Given the description of an element on the screen output the (x, y) to click on. 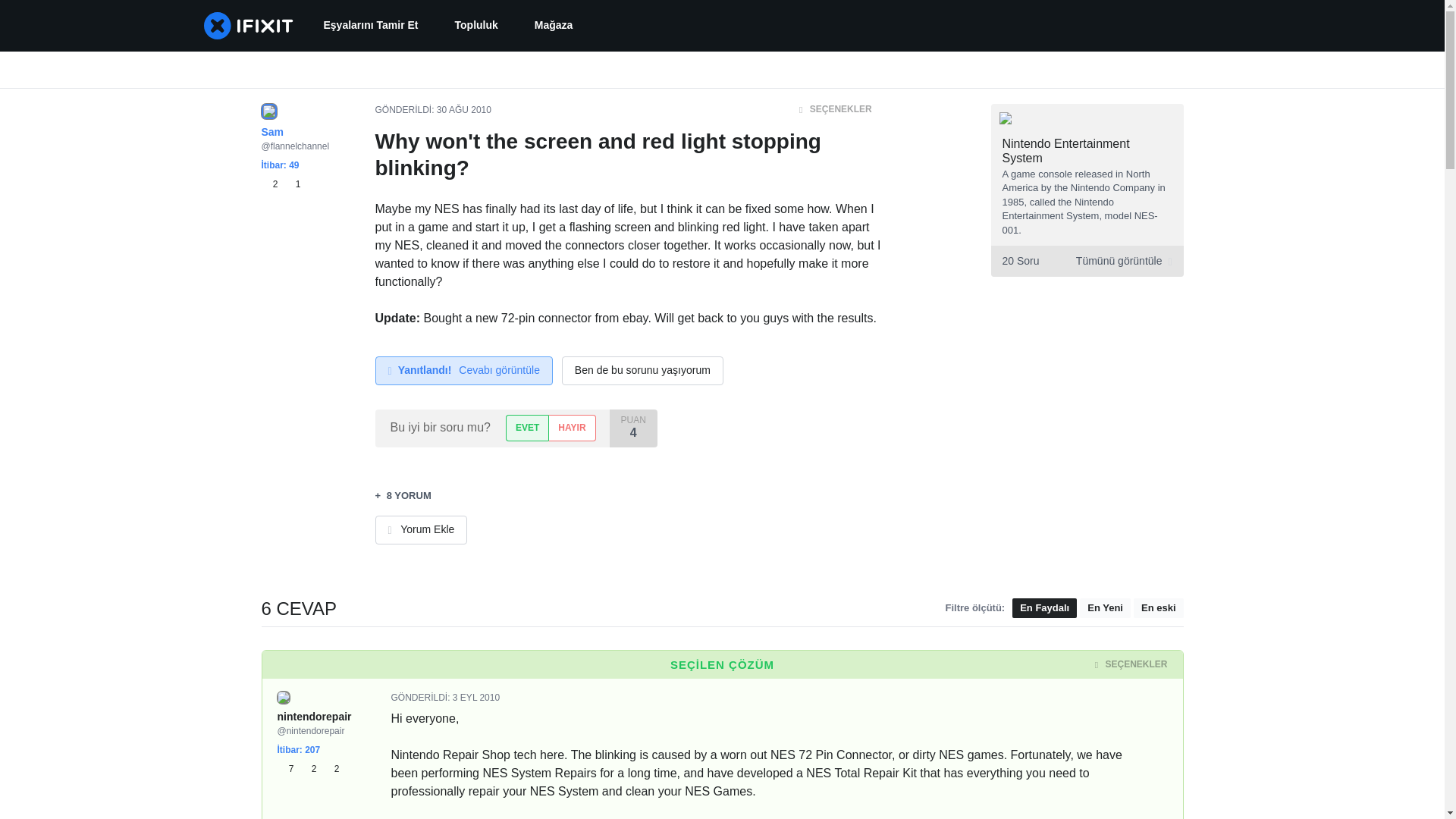
7 Bronz rozeti (288, 768)
EVET (526, 427)
Topluluk (476, 25)
2 1 (279, 184)
HAYIR (571, 427)
Yorum Ekle (420, 529)
En eski (1158, 608)
Nintendo Entertainment System (1066, 150)
Fri, 03 Sep 2010 21:16:16 -0700 (475, 697)
Mon, 30 Aug 2010 07:39:30 -0700 (464, 109)
